Given the description of an element on the screen output the (x, y) to click on. 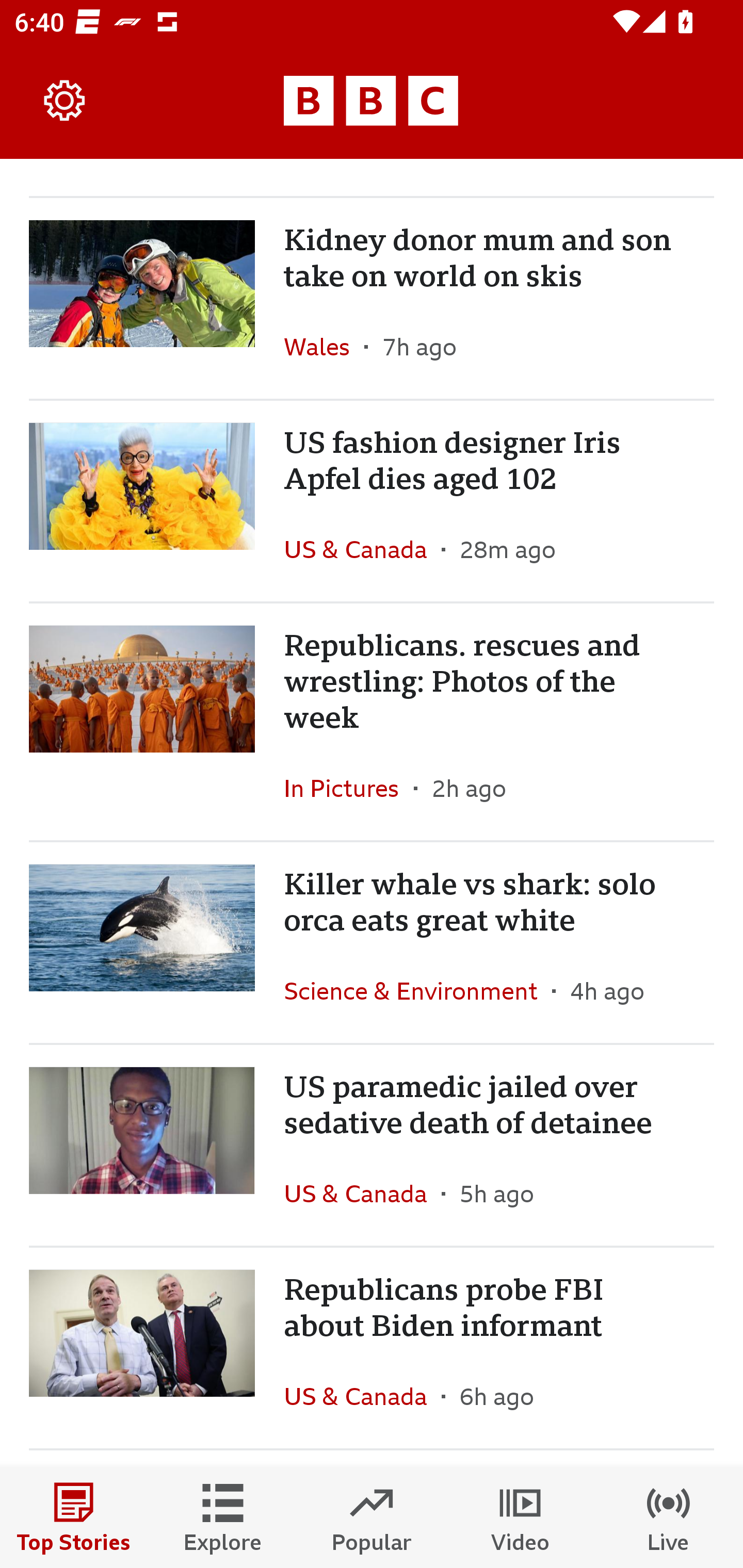
Settings (64, 100)
Wales In the section Wales (323, 346)
US & Canada In the section US & Canada (362, 549)
In Pictures In the section In Pictures (348, 787)
US & Canada In the section US & Canada (362, 1192)
US & Canada In the section US & Canada (362, 1395)
Explore (222, 1517)
Popular (371, 1517)
Video (519, 1517)
Live (668, 1517)
